Given the description of an element on the screen output the (x, y) to click on. 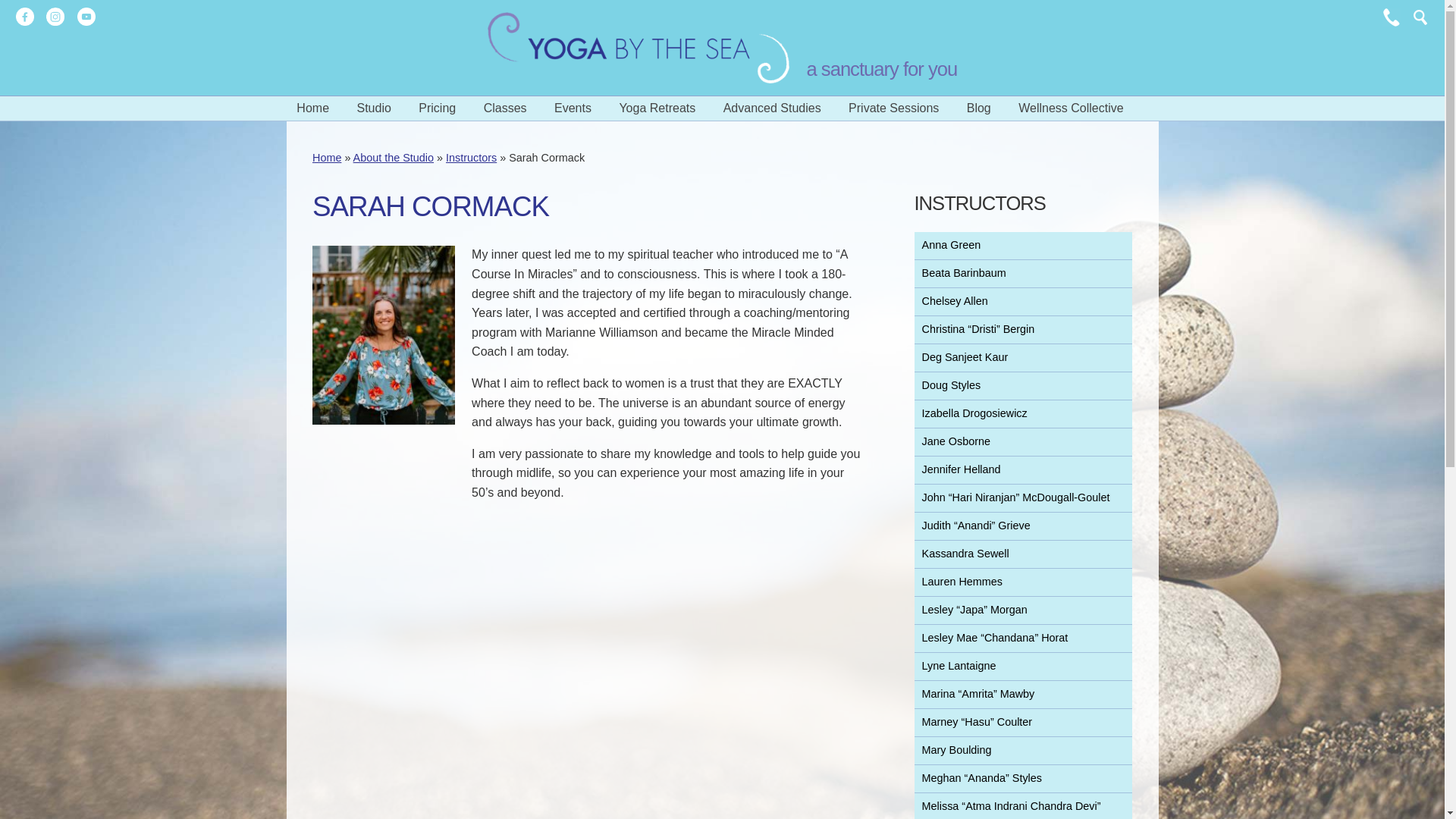
Classes (505, 108)
Contact Us (1391, 17)
Yoga By The Sea (638, 47)
Pricing (437, 108)
Studio (373, 108)
Home (313, 108)
Events (572, 108)
Skip to content (37, 104)
Yoga Retreats (656, 108)
Private Sessions (893, 108)
